Given the description of an element on the screen output the (x, y) to click on. 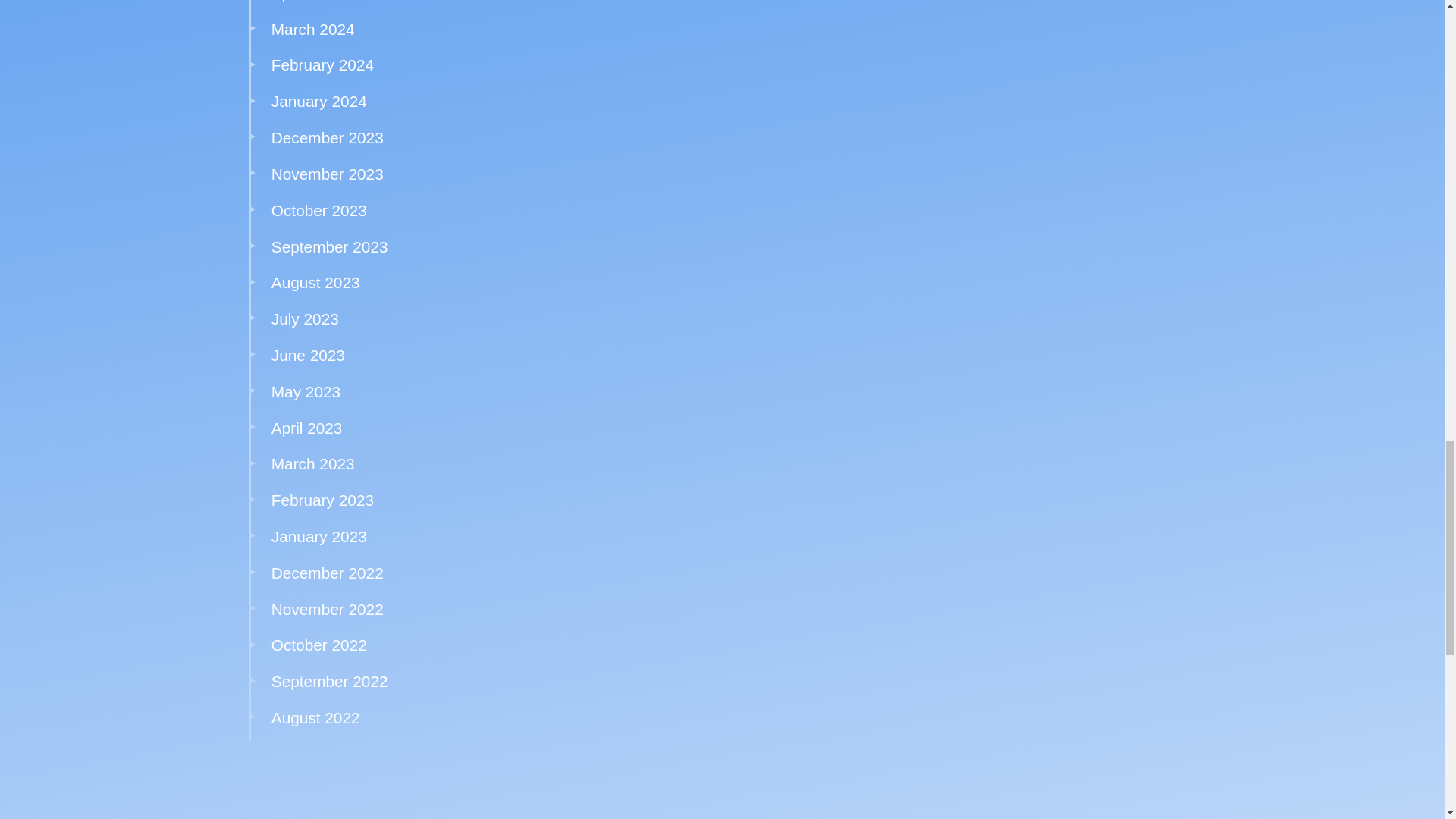
January 2024 (318, 100)
March 2024 (312, 28)
May 2023 (305, 391)
August 2023 (314, 282)
October 2022 (318, 644)
September 2023 (329, 246)
January 2023 (318, 536)
December 2023 (327, 137)
March 2023 (312, 463)
June 2023 (307, 354)
